Given the description of an element on the screen output the (x, y) to click on. 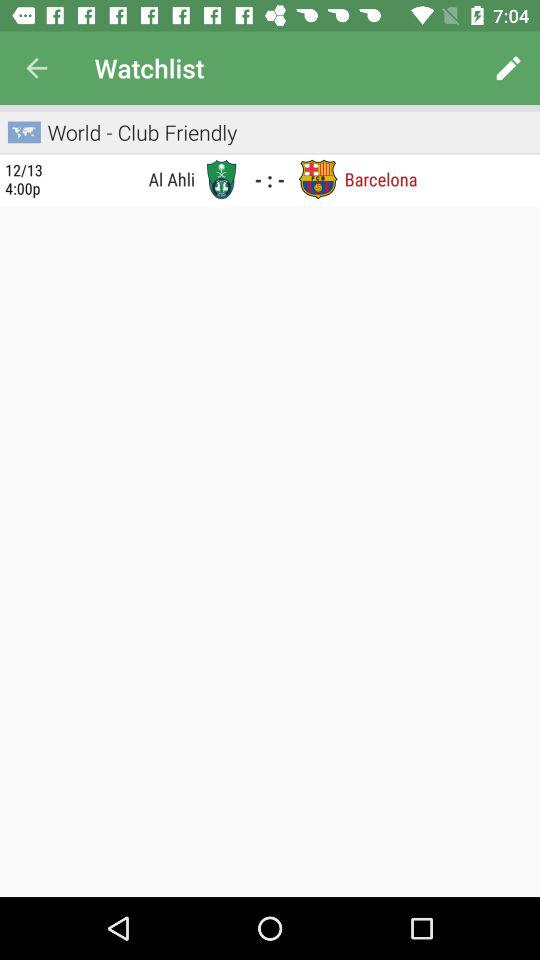
turn off item next to al ahli icon (24, 179)
